Given the description of an element on the screen output the (x, y) to click on. 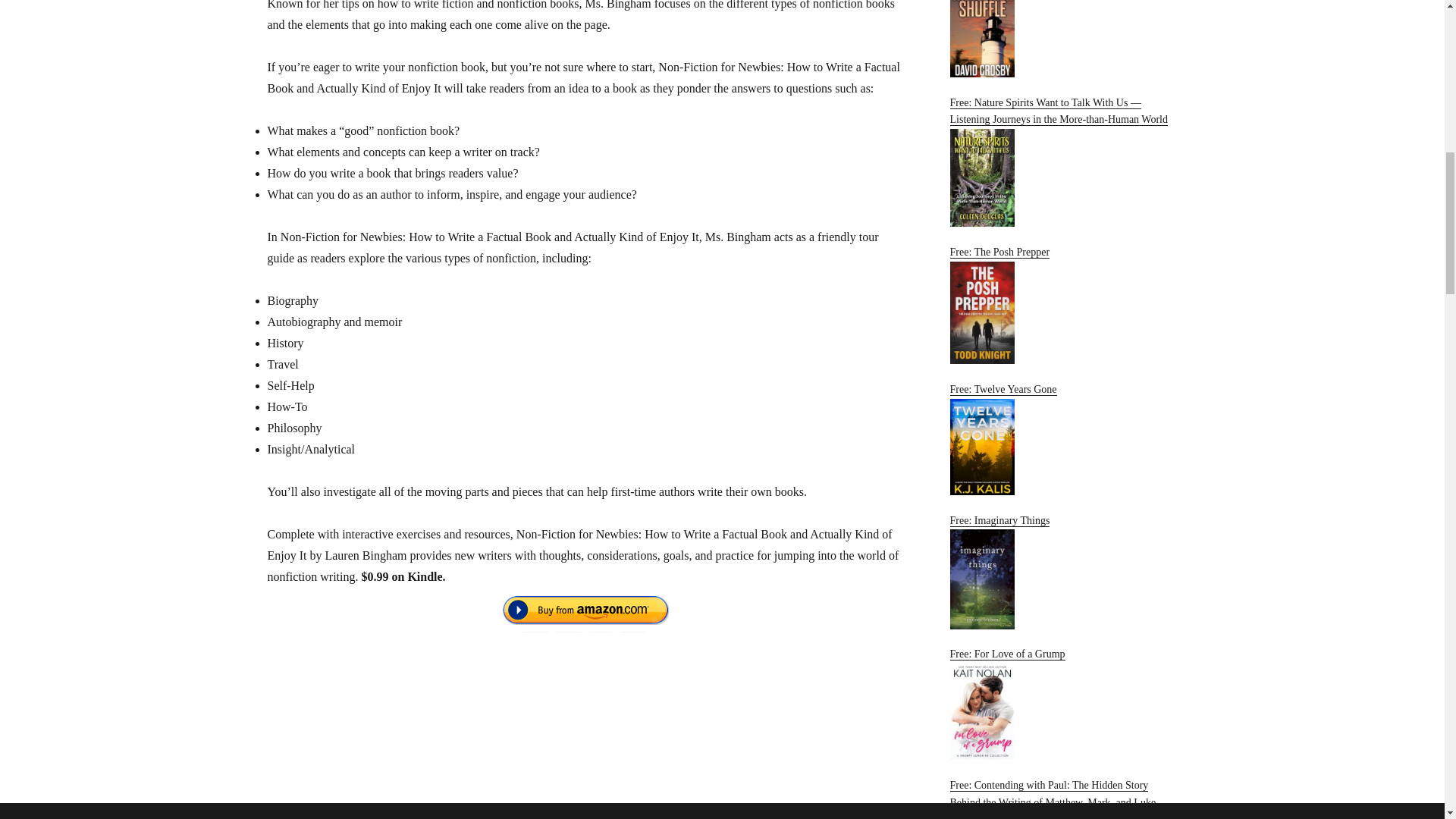
Free: For Love of a Grump (1062, 704)
Free: The Posh Prepper (1062, 304)
Free: Twelve Years Gone (1062, 439)
Free: Imaginary Things (1062, 572)
